Given the description of an element on the screen output the (x, y) to click on. 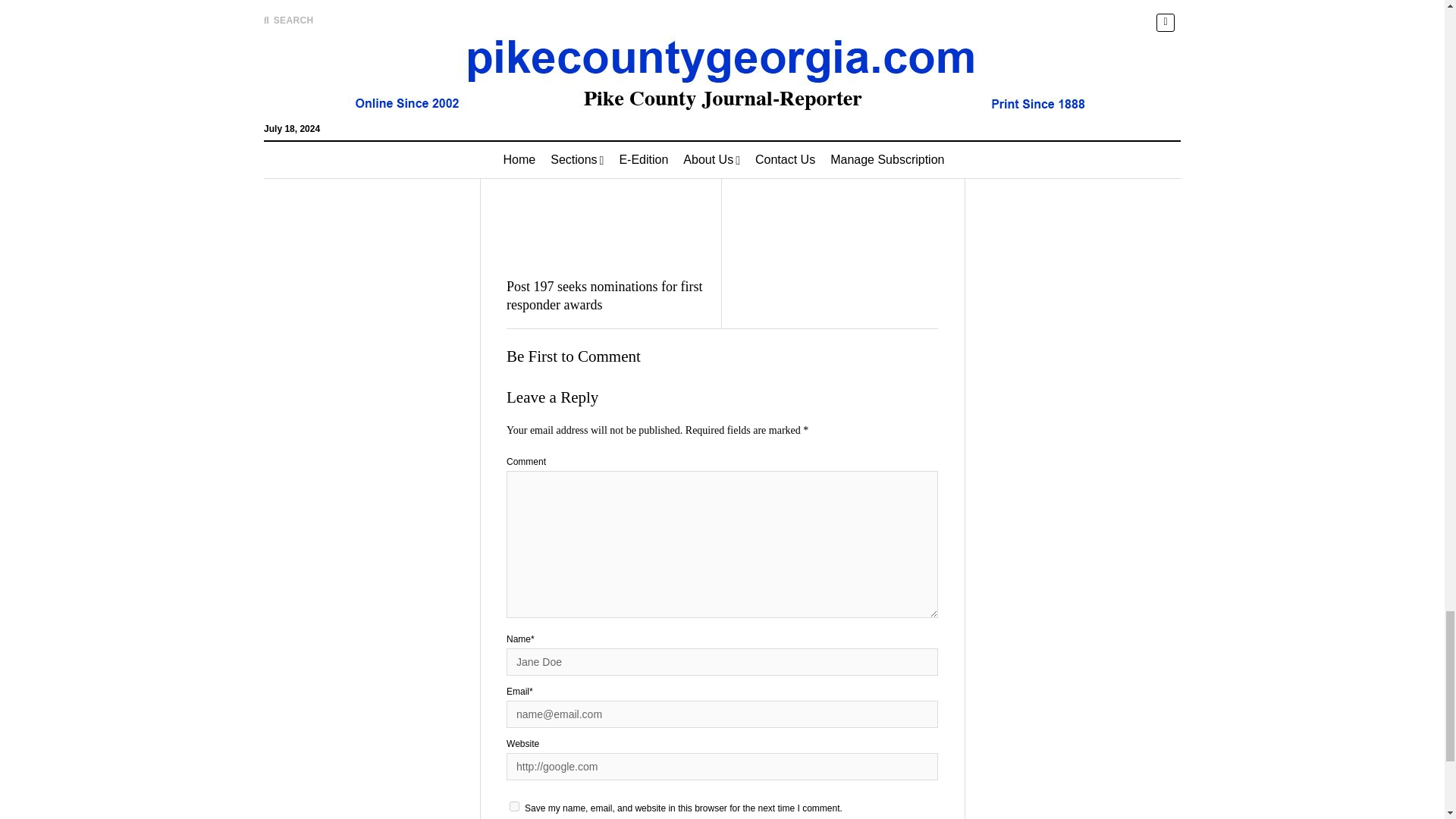
yes (514, 806)
